Given the description of an element on the screen output the (x, y) to click on. 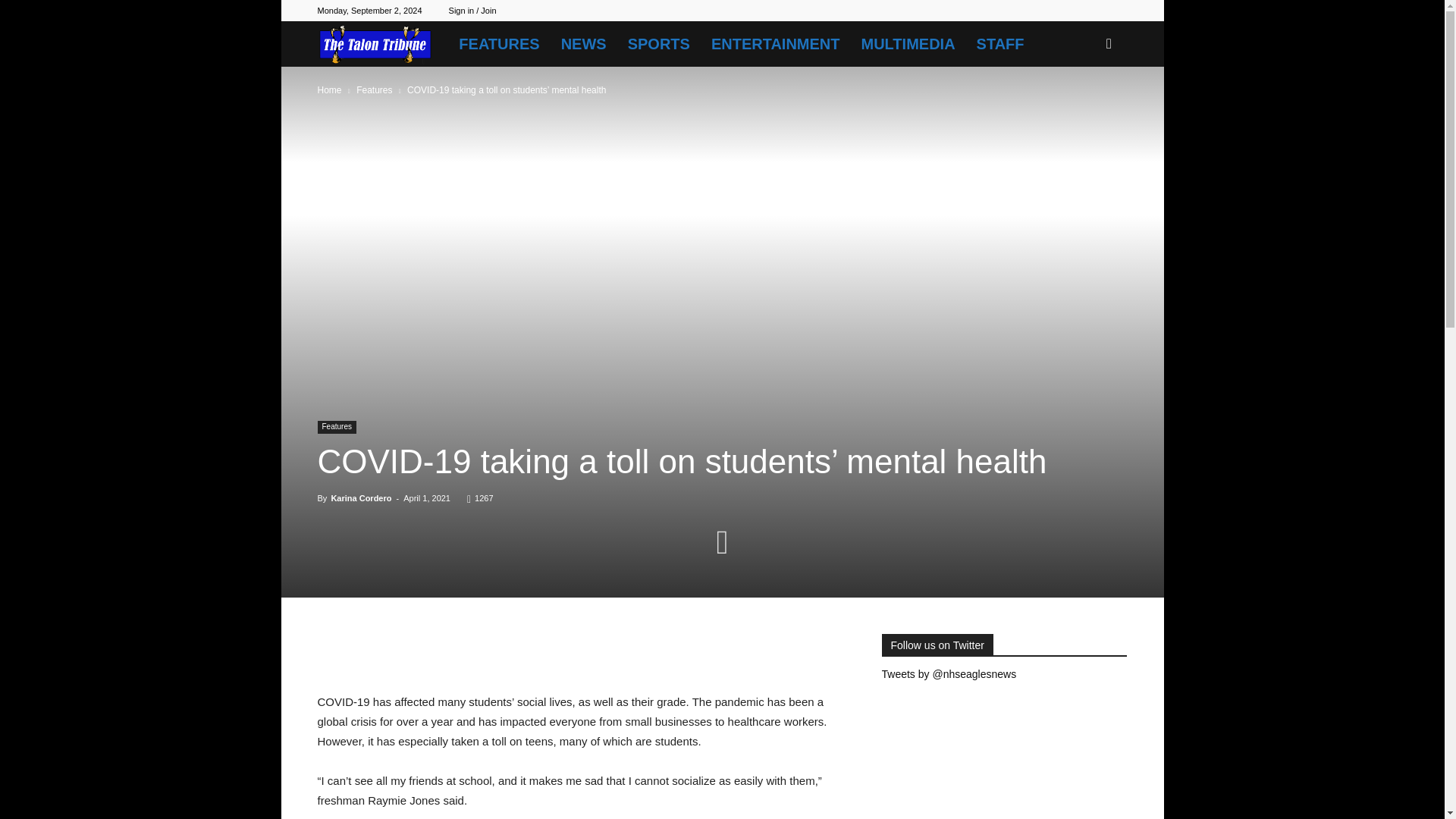
FEATURES (499, 43)
NEWS (583, 43)
STAFF (1000, 43)
View all posts in Features (373, 90)
Karina Cordero (360, 497)
Search (1085, 109)
Home (328, 90)
MULTIMEDIA (908, 43)
SPORTS (658, 43)
ENTERTAINMENT (775, 43)
